Given the description of an element on the screen output the (x, y) to click on. 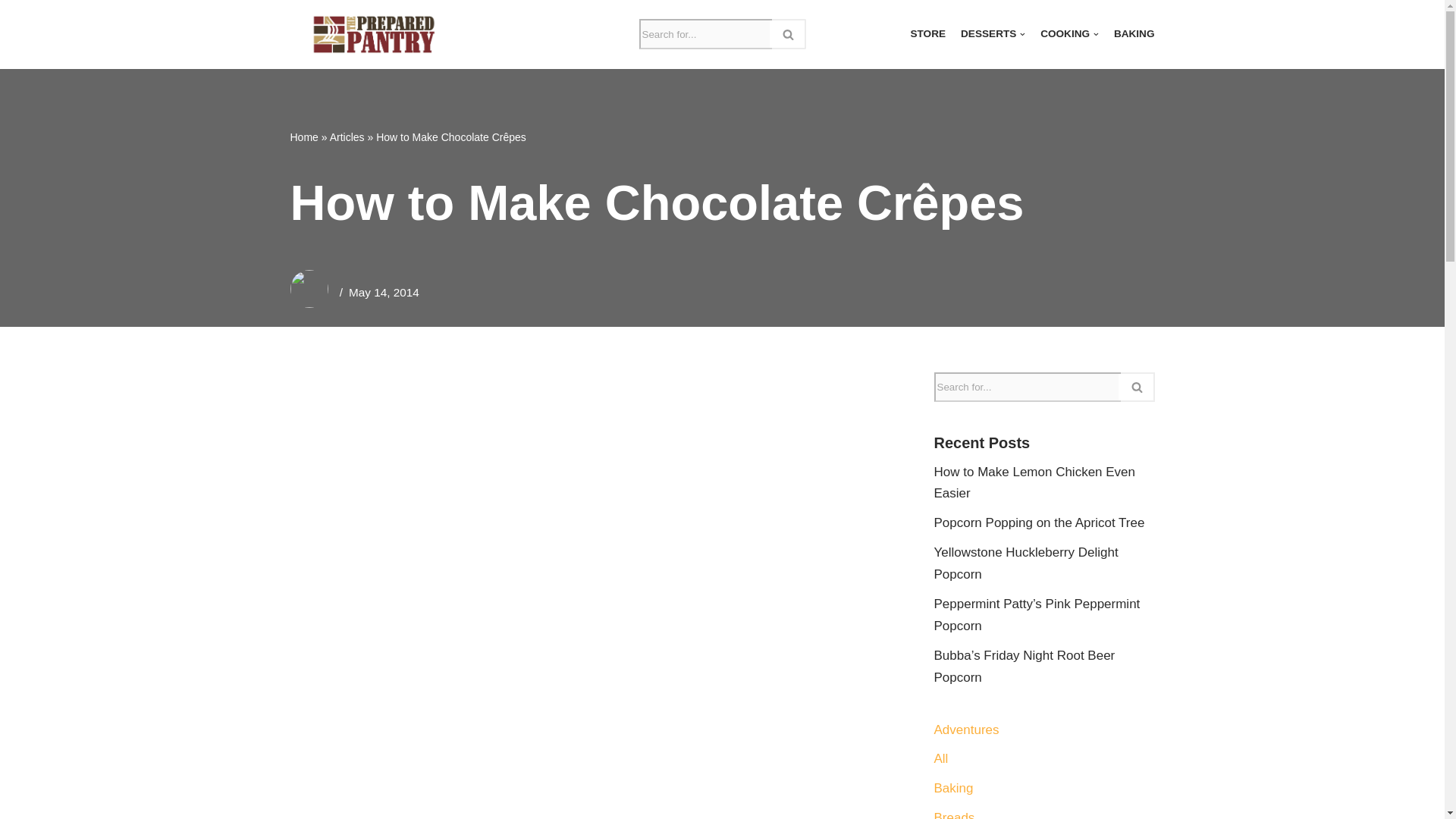
STORE (927, 34)
COOKING (1070, 34)
DESSERTS (992, 34)
Articles (347, 137)
Home (303, 137)
Skip to content (11, 31)
BAKING (1133, 34)
